Given the description of an element on the screen output the (x, y) to click on. 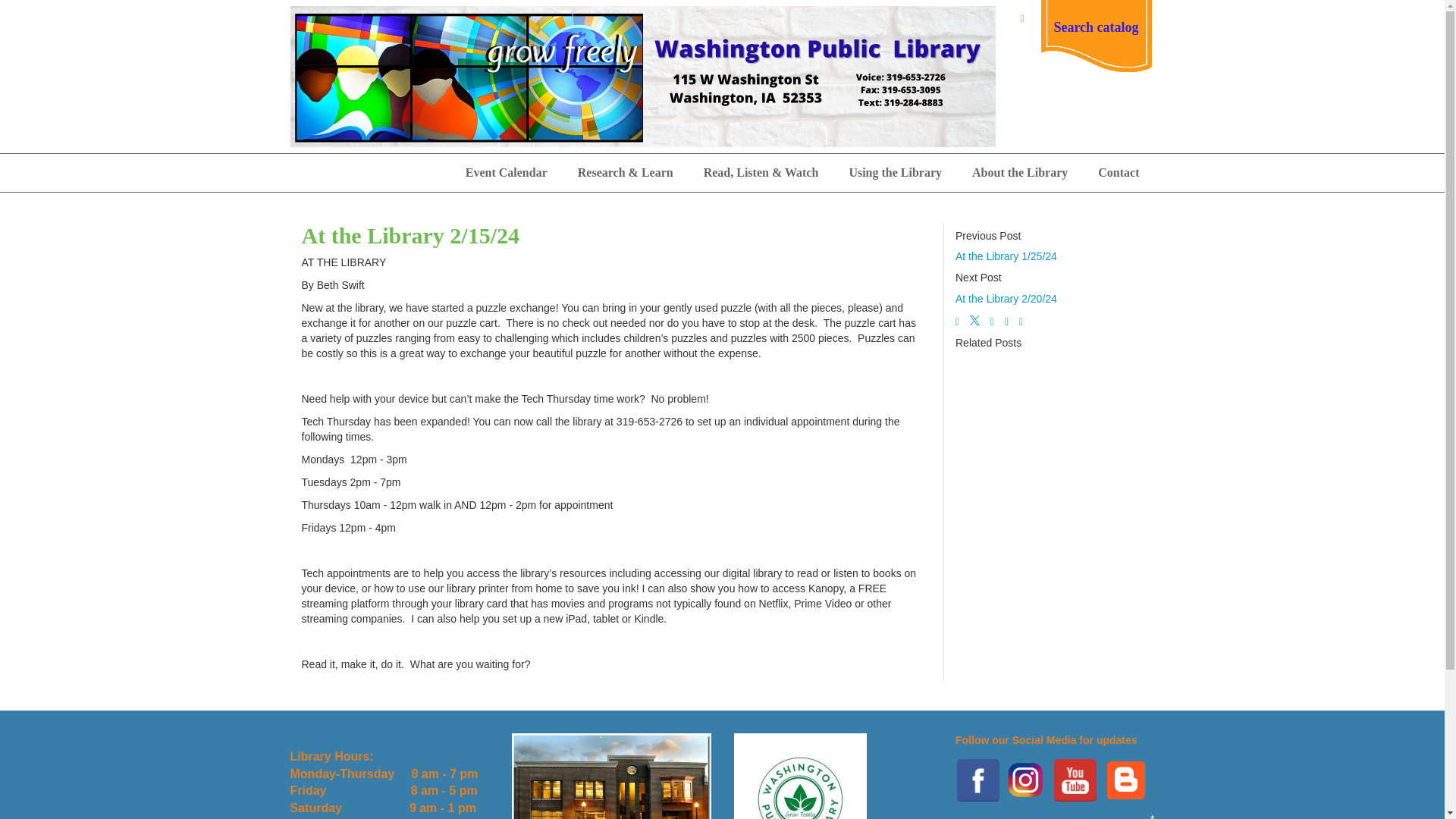
Event Calendar (505, 172)
catalog (1117, 27)
Using the Library (894, 172)
About the Library (1019, 172)
